Given the description of an element on the screen output the (x, y) to click on. 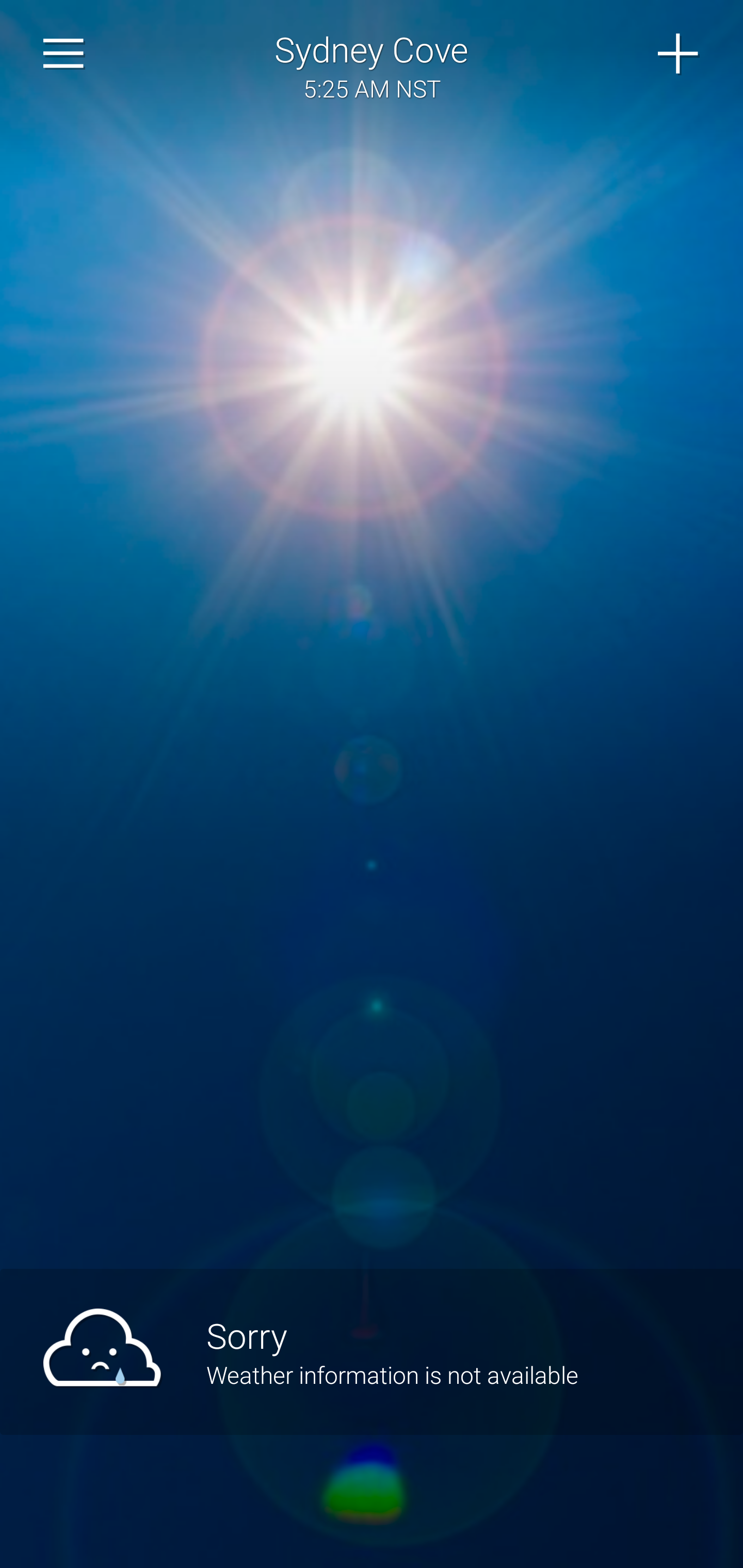
Sidebar (64, 54)
Add City (678, 53)
